Given the description of an element on the screen output the (x, y) to click on. 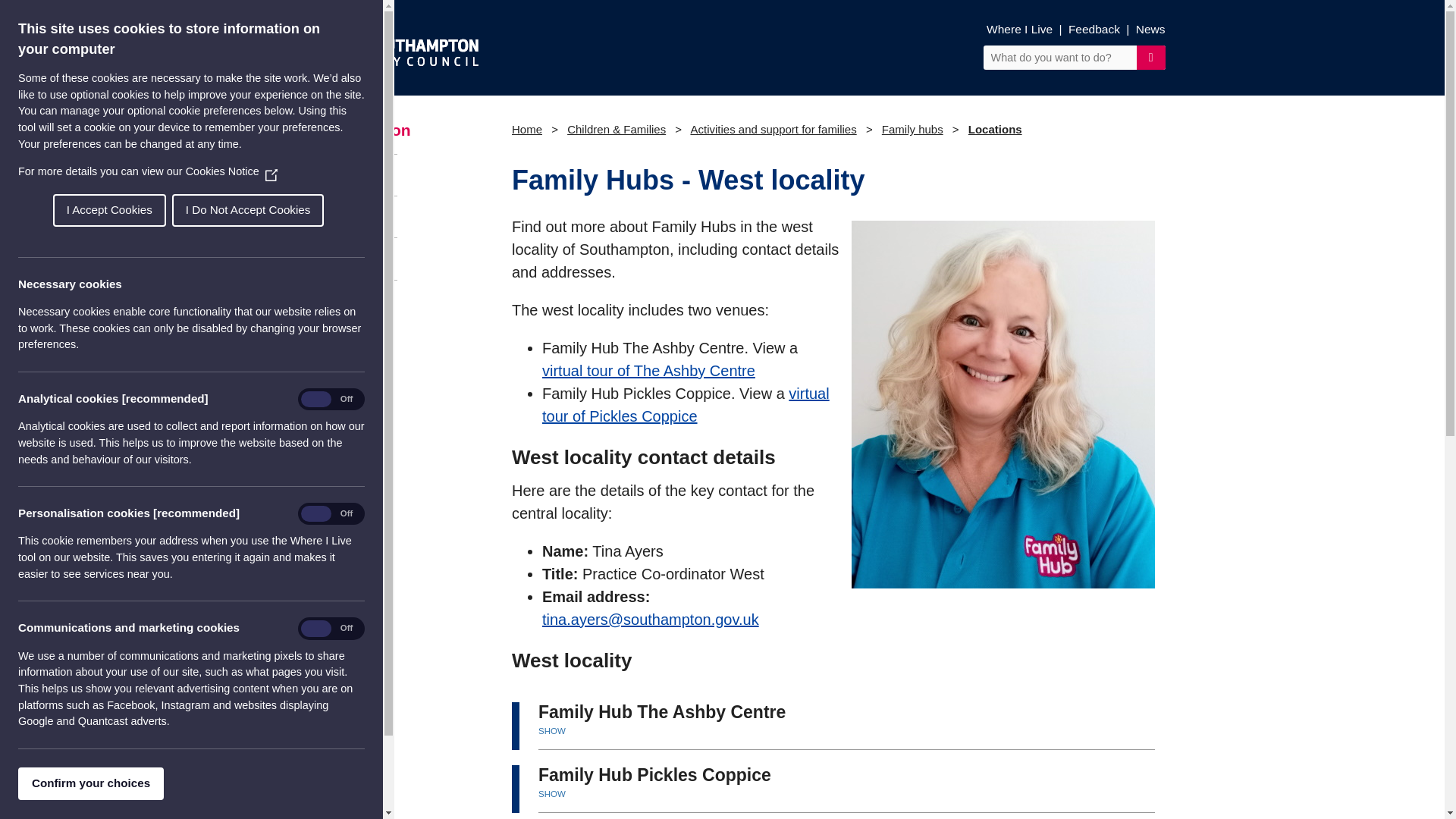
Family hubs (912, 128)
Activities and support for families (773, 128)
virtual tour of The Ashby Centre (648, 370)
Home (526, 128)
virtual tour of Pickles Coppice (685, 404)
Feedback (1093, 28)
Where I Live (1019, 28)
Locations (349, 174)
News (1150, 28)
East locality (349, 216)
